Given the description of an element on the screen output the (x, y) to click on. 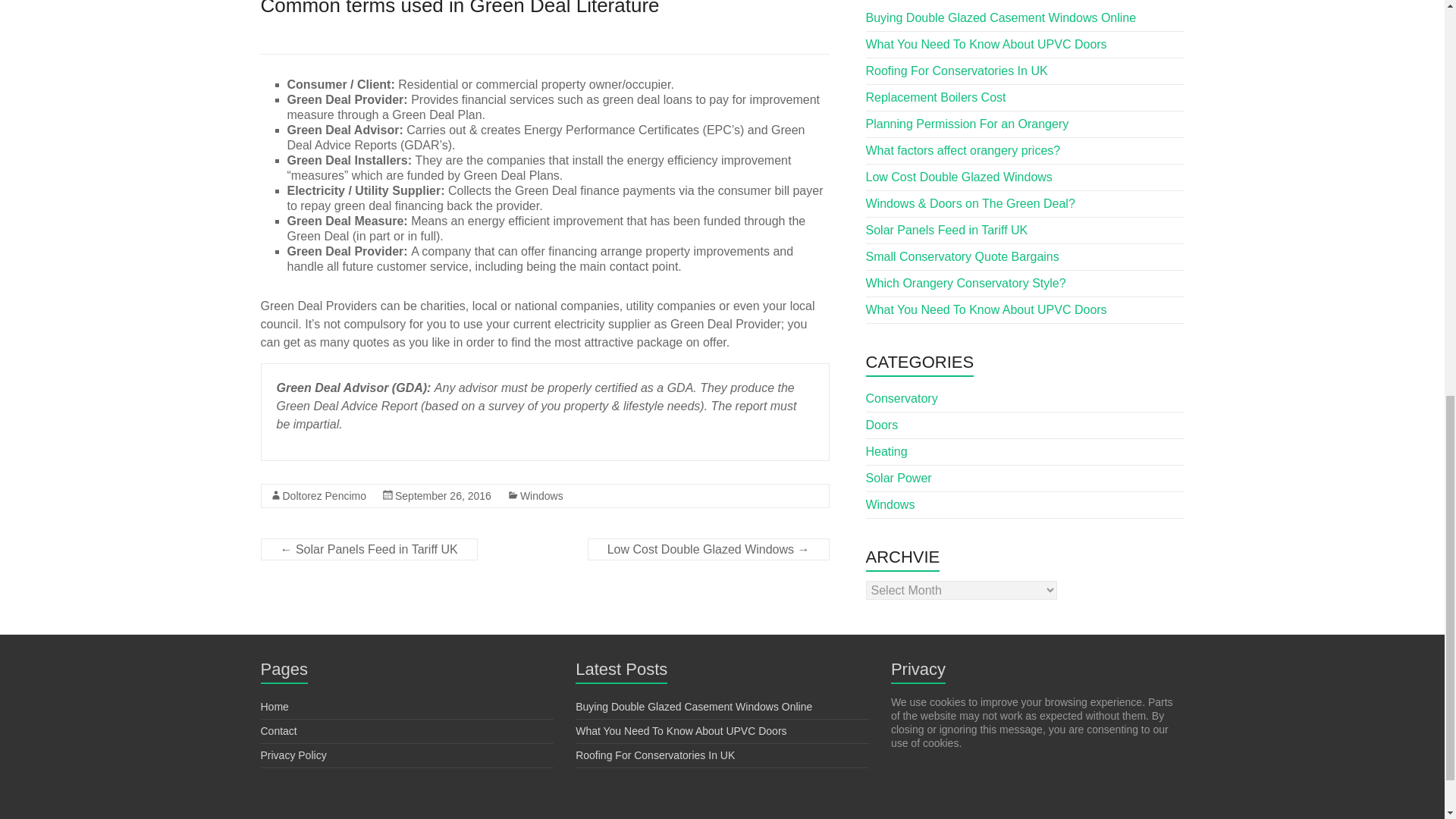
Replacement Boilers Cost (936, 97)
Home (274, 706)
What factors affect orangery prices? (963, 150)
Roofing For Conservatories In UK (655, 755)
Contact (278, 730)
What You Need To Know About UPVC Doors (986, 43)
Heating (886, 450)
Solar Panels Feed in Tariff UK (946, 228)
Buying Double Glazed Casement Windows Online (1001, 16)
Low Cost Double Glazed Windows (959, 175)
